Given the description of an element on the screen output the (x, y) to click on. 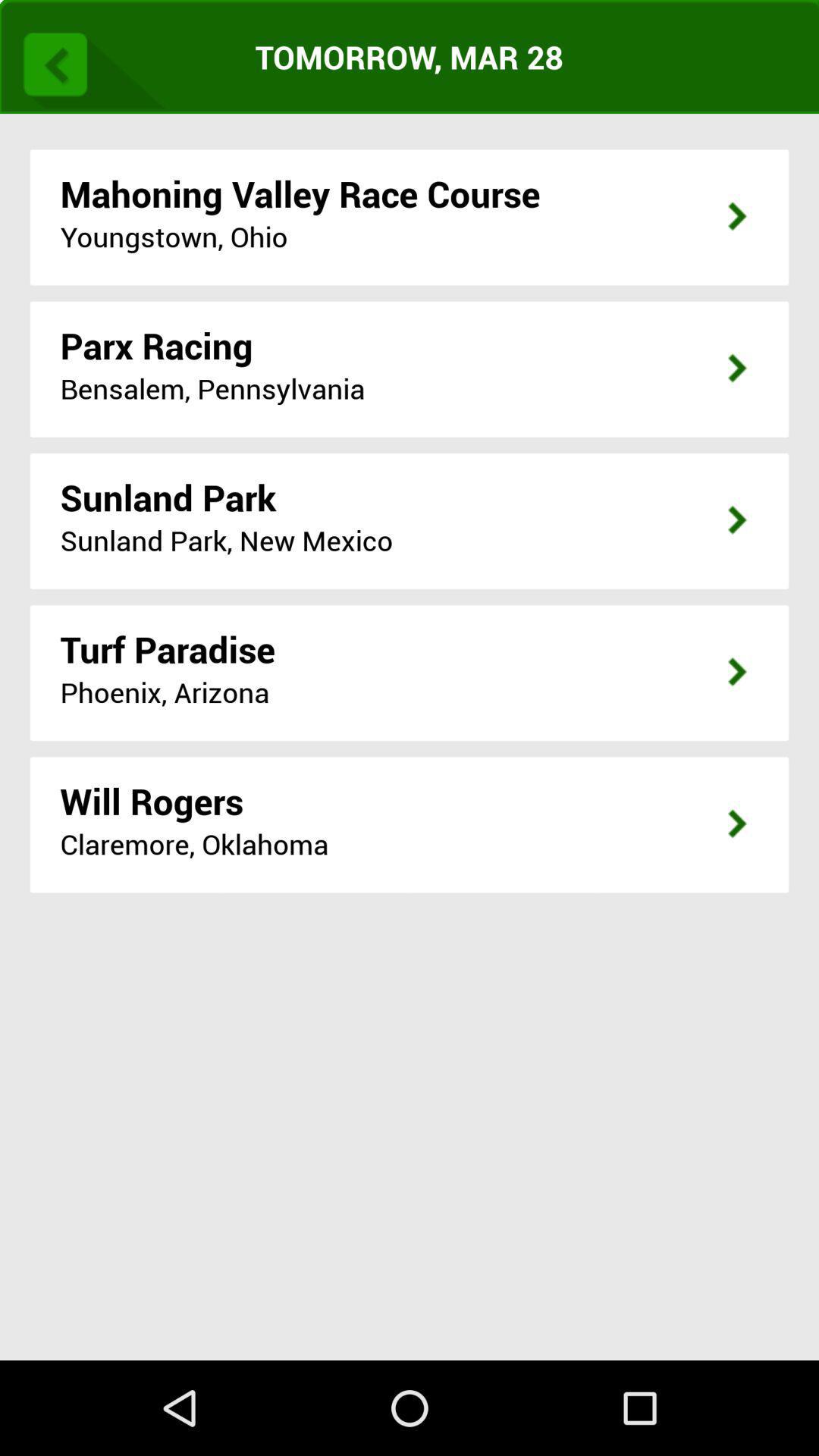
press item above the mahoning valley race item (89, 61)
